Given the description of an element on the screen output the (x, y) to click on. 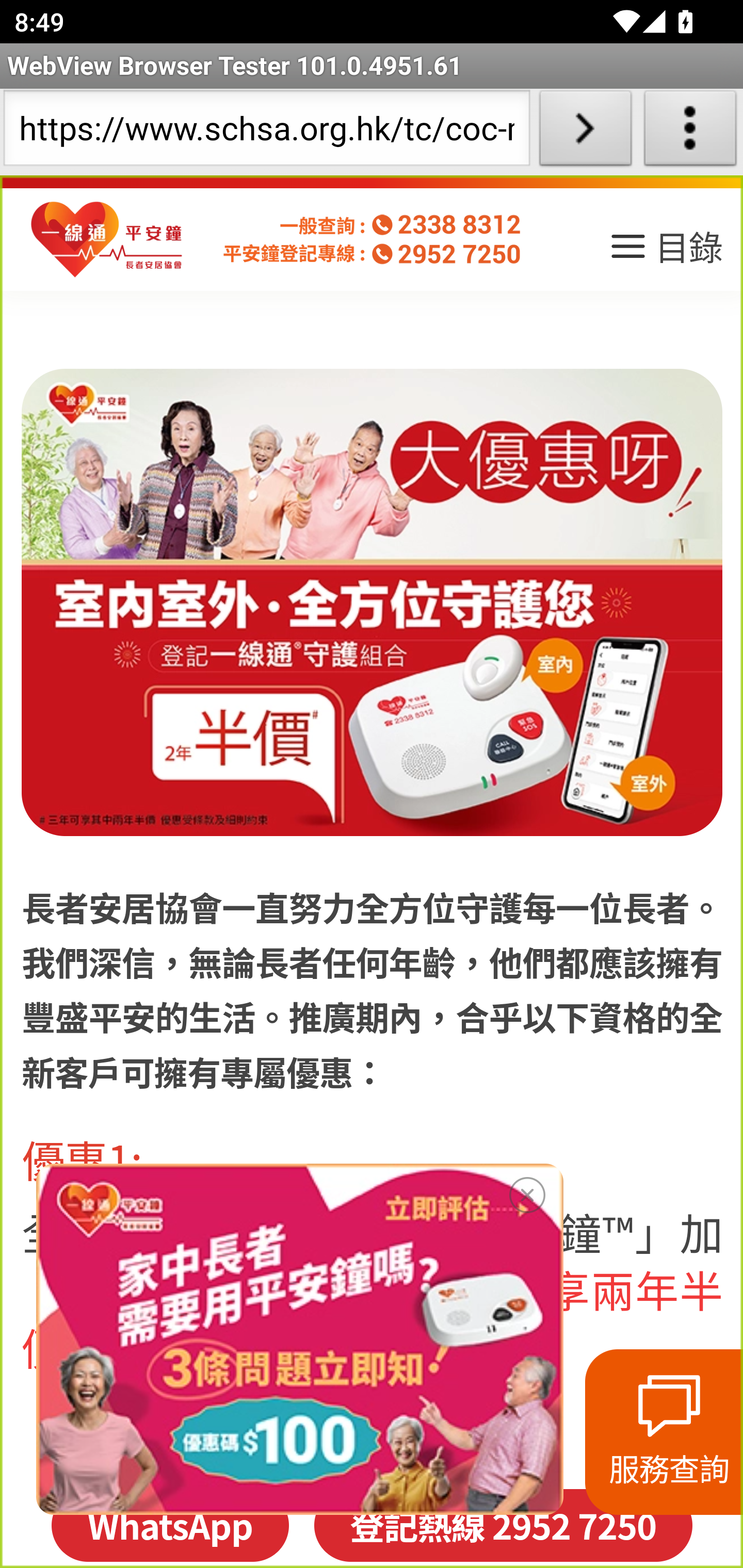
Load URL (585, 132)
About WebView (690, 132)
homepage (107, 240)
目錄 (665, 252)
Dec Coupon Code Allsize Popup 300x200 Yescta (299, 1338)
site.close (526, 1191)
服務查詢 (664, 1432)
